Given the description of an element on the screen output the (x, y) to click on. 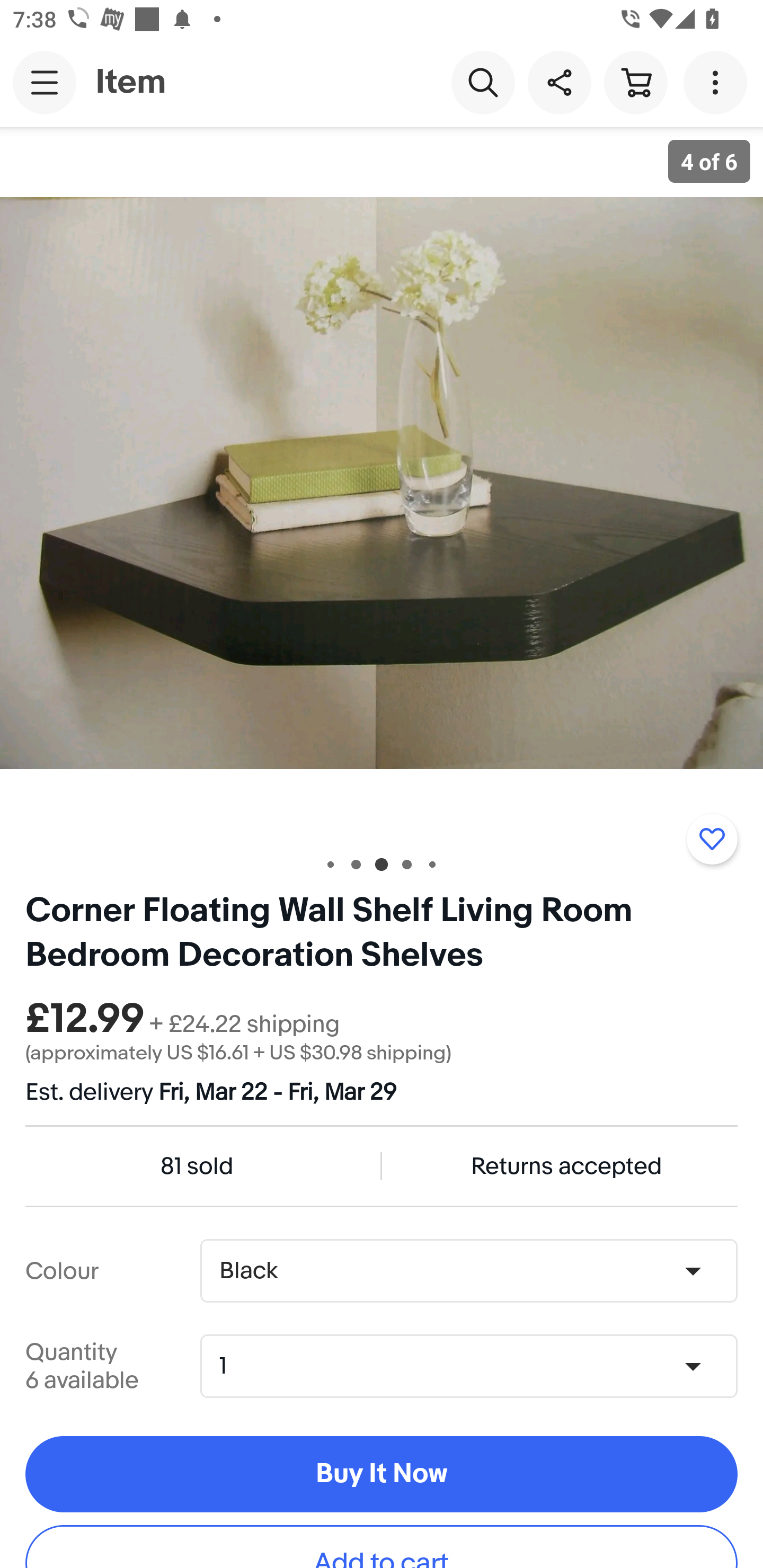
Main navigation, open (44, 82)
Search (482, 81)
Share this item (559, 81)
Cart button shopping cart (635, 81)
More options (718, 81)
Item image 4 of 6 (381, 482)
Add to watchlist (711, 838)
Colour,Black Black (468, 1270)
Quantity,1,6 available 1 (474, 1365)
Buy It Now (381, 1474)
